Given the description of an element on the screen output the (x, y) to click on. 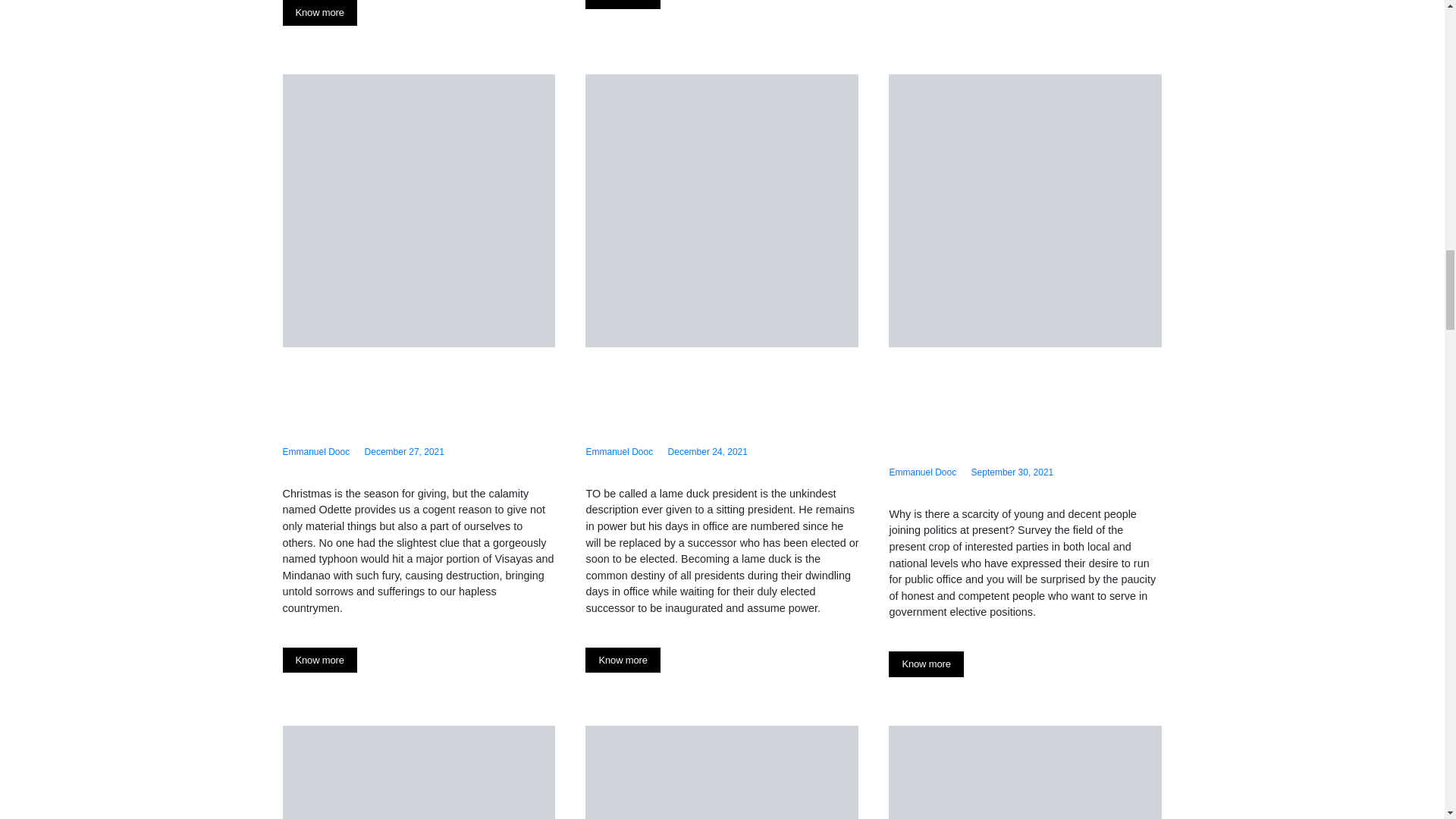
View all posts by Emmanuel Dooc (922, 471)
View all posts by Emmanuel Dooc (618, 451)
View all posts by Emmanuel Dooc (315, 451)
